Given the description of an element on the screen output the (x, y) to click on. 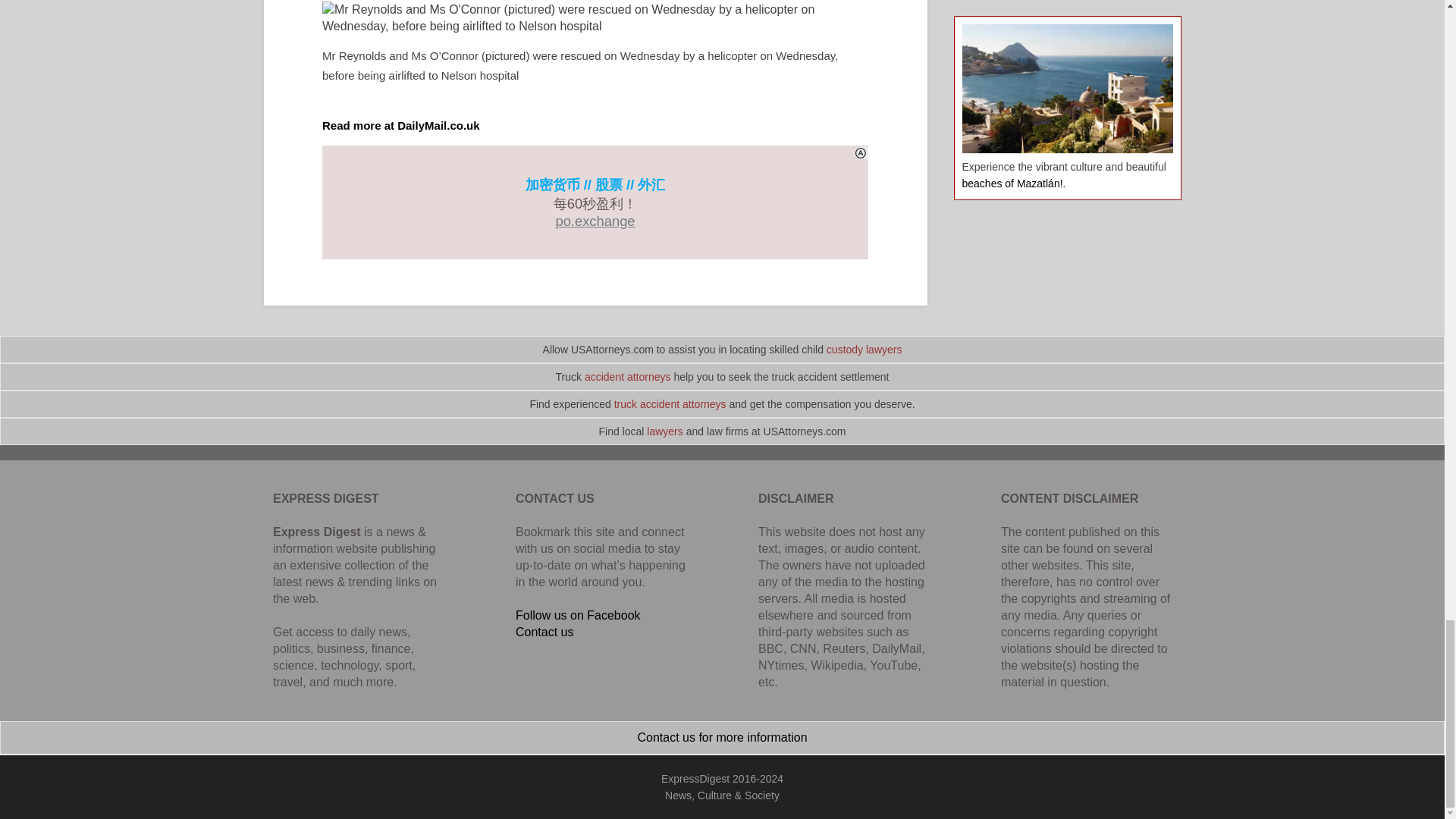
accident attorneys (628, 377)
truck accident attorneys (670, 404)
Read more at DailyMail.co.uk (400, 124)
custody lawyers (864, 349)
lawyers (664, 431)
